Given the description of an element on the screen output the (x, y) to click on. 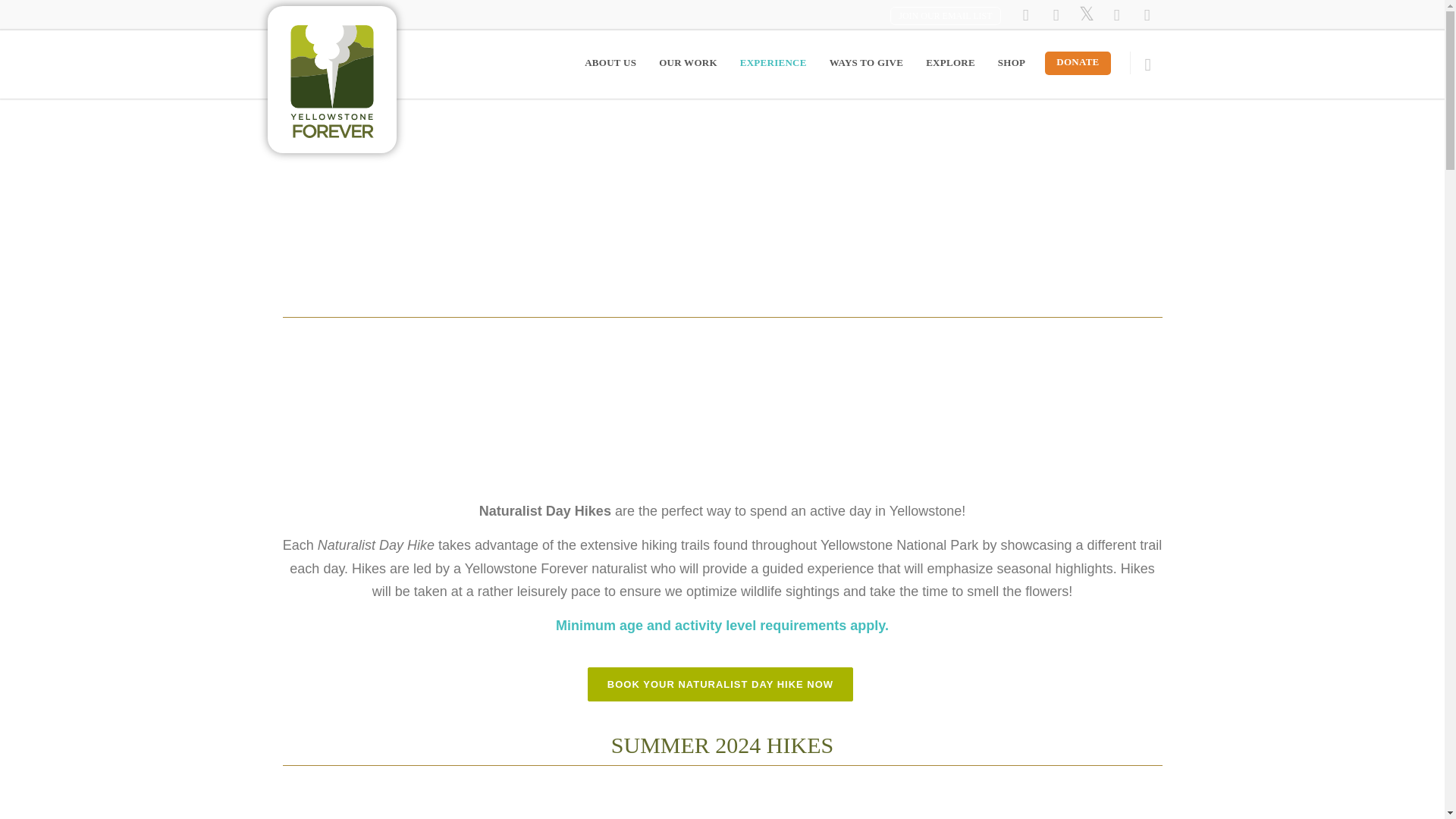
OUR WORK (688, 62)
Twitter (1085, 15)
Hikers on the Beaver Ponds Trail (418, 803)
WAYS TO GIVE (866, 62)
Facebook (1025, 15)
Pika near Mammoth Hot Springs (722, 803)
Linkedin (1146, 15)
EXPERIENCE (773, 62)
Clear Lake (1024, 803)
YouTube (1115, 15)
